Given the description of an element on the screen output the (x, y) to click on. 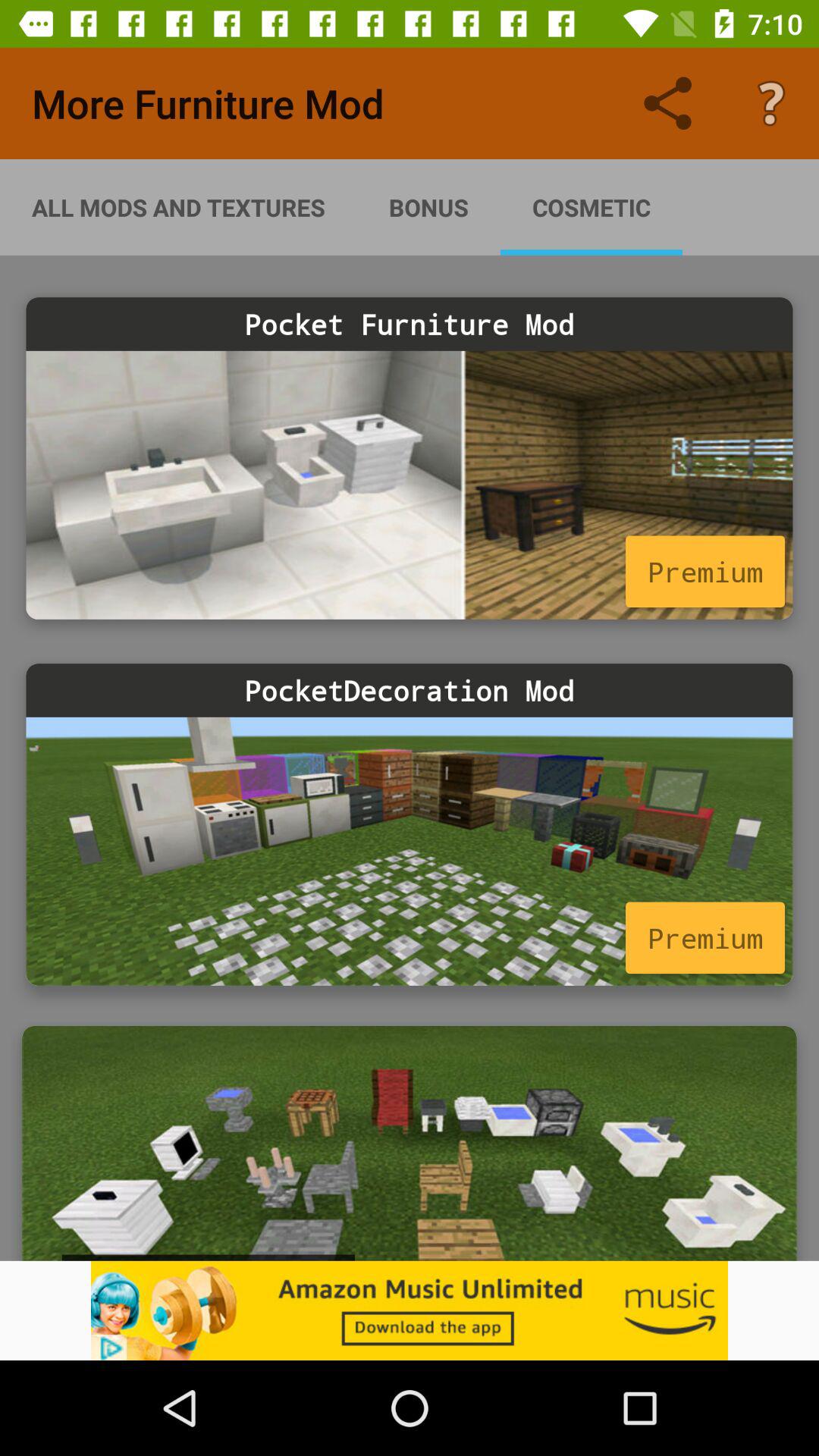
go to the premium page (409, 851)
